Given the description of an element on the screen output the (x, y) to click on. 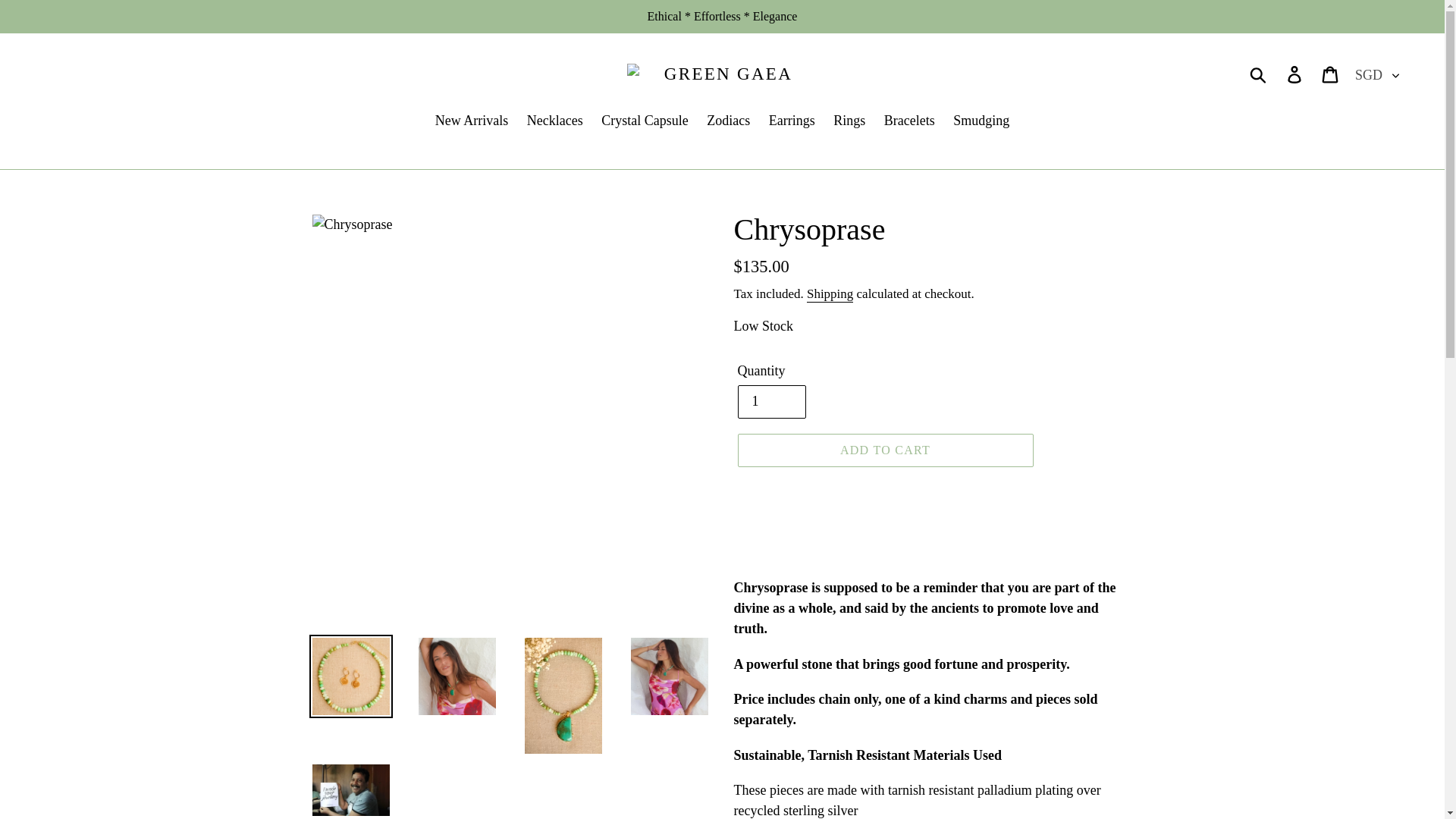
ADD TO CART (884, 450)
Necklaces (555, 121)
Shipping (829, 294)
Smudging (980, 121)
1 (770, 401)
Earrings (791, 121)
Zodiacs (727, 121)
Cart (1331, 73)
New Arrivals (471, 121)
Log in (1295, 73)
